Given the description of an element on the screen output the (x, y) to click on. 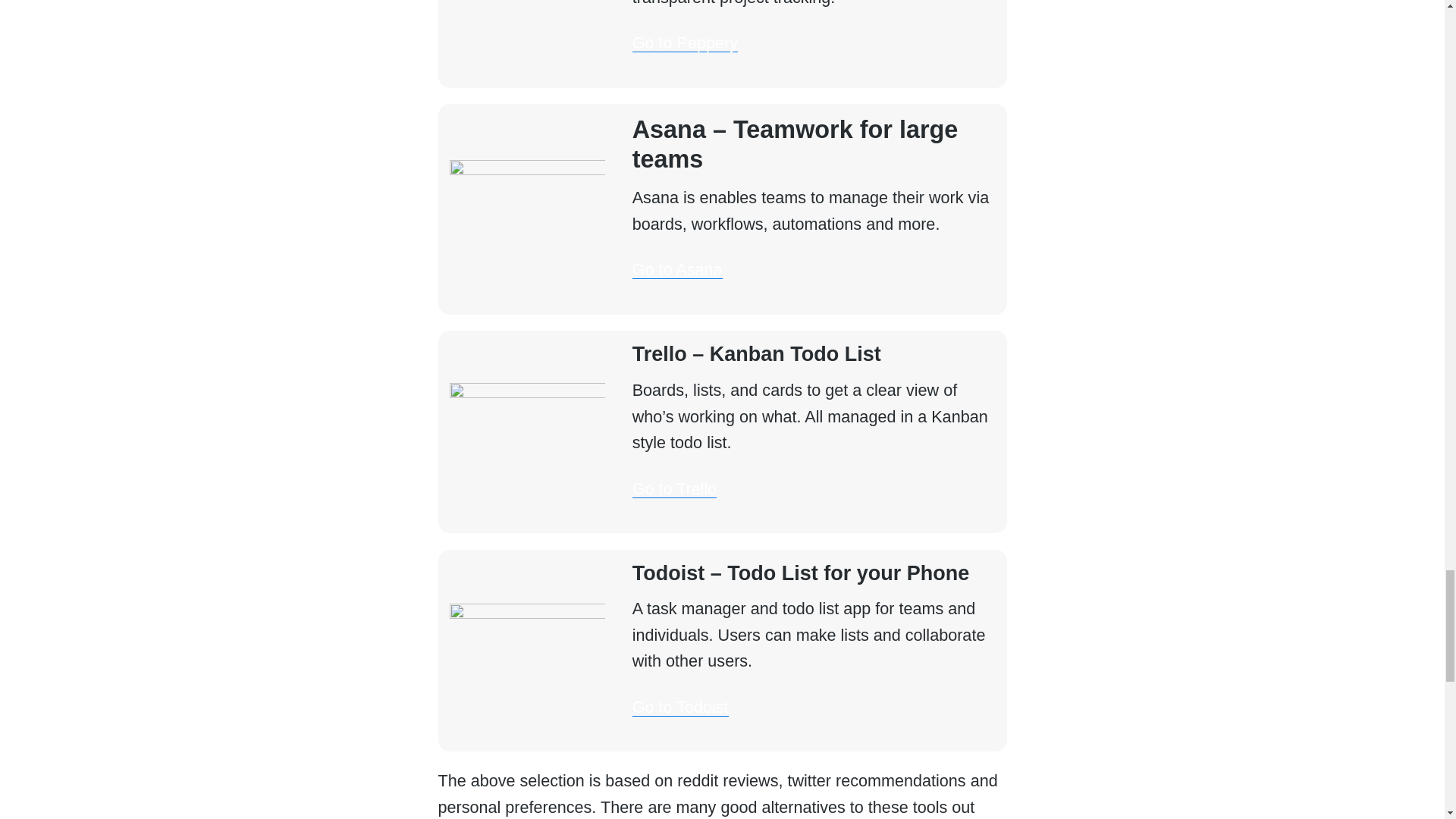
Go to Todoist (680, 706)
Go to Asana (676, 269)
Go to Trello (674, 488)
Go to Peppery (684, 42)
